Given the description of an element on the screen output the (x, y) to click on. 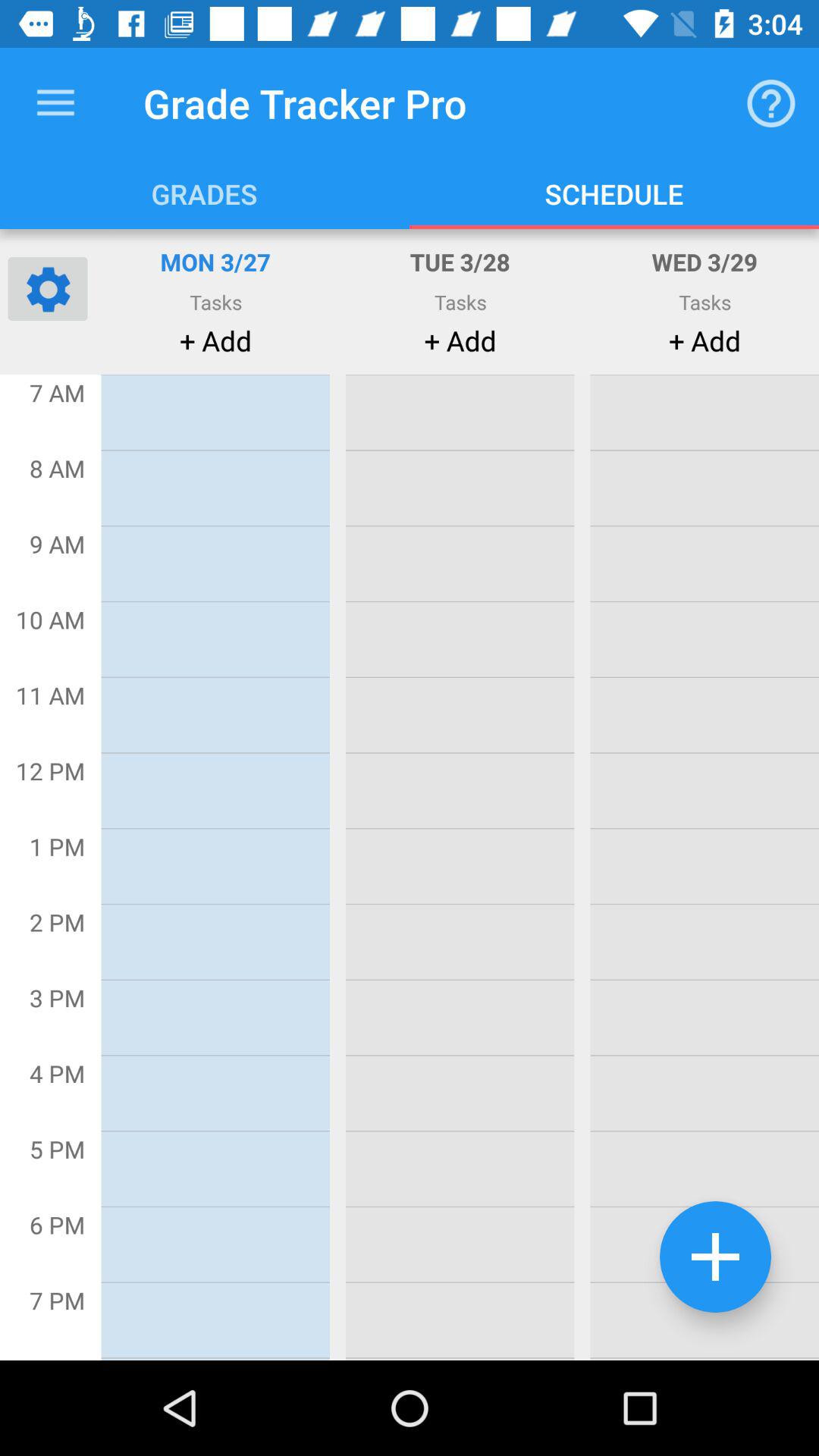
setting bar (47, 288)
